Given the description of an element on the screen output the (x, y) to click on. 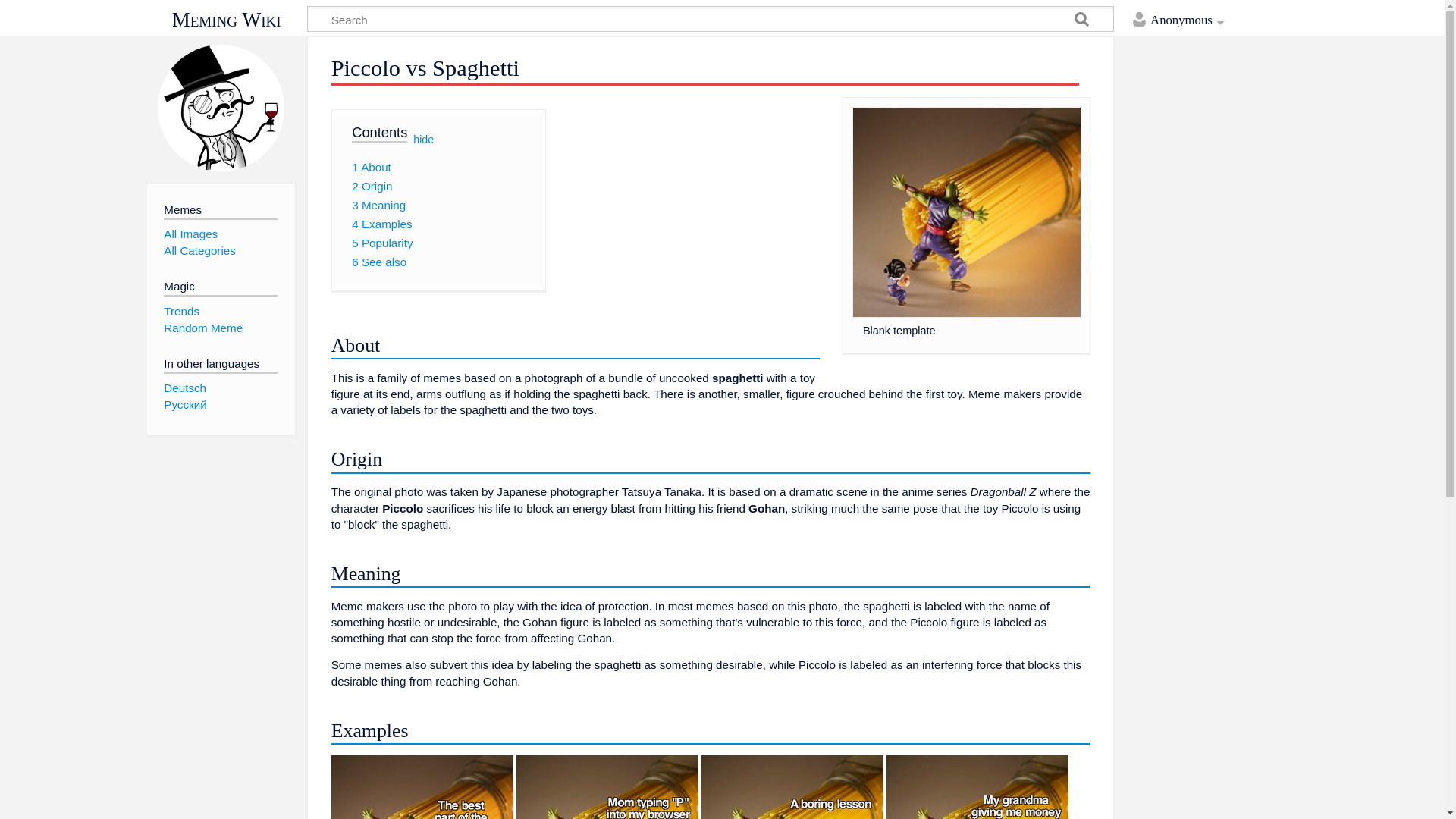
5 Popularity (382, 242)
Meming Wiki (226, 19)
Random Meme (203, 327)
All Categories (199, 250)
Deutsch (184, 387)
Go to a page with this exact name if it exists (1081, 21)
3 Meaning (379, 205)
1 About (371, 166)
All Images (189, 233)
Visit the main page (220, 108)
Trends (181, 310)
Go (1081, 21)
2 Origin (371, 185)
4 Examples (382, 223)
6 See also (379, 261)
